Given the description of an element on the screen output the (x, y) to click on. 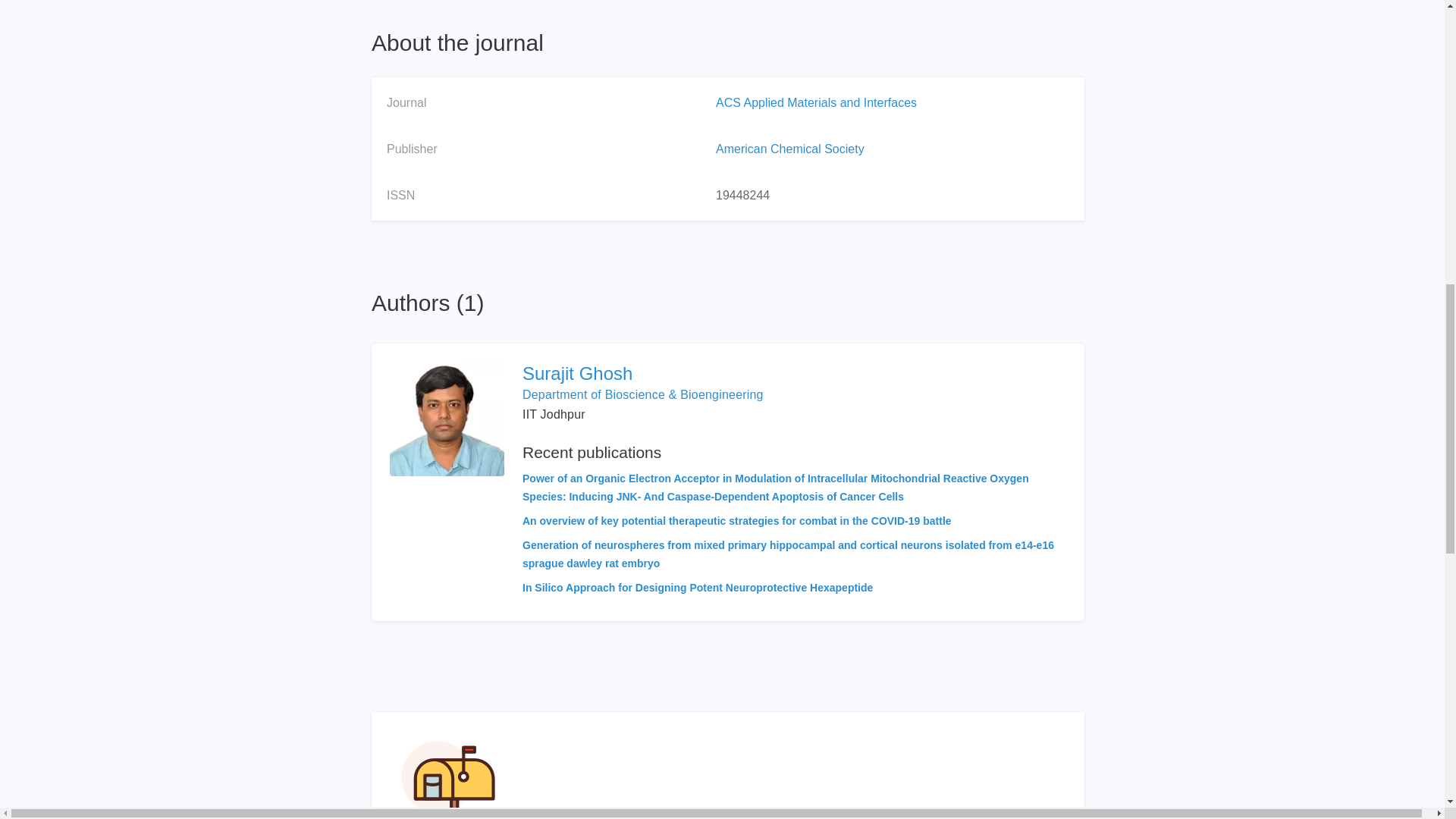
Surajit Ghosh (793, 373)
ACS Applied Materials and Interfaces (816, 102)
Subscribe form hero illustration (448, 774)
American Chemical Society (790, 148)
